Given the description of an element on the screen output the (x, y) to click on. 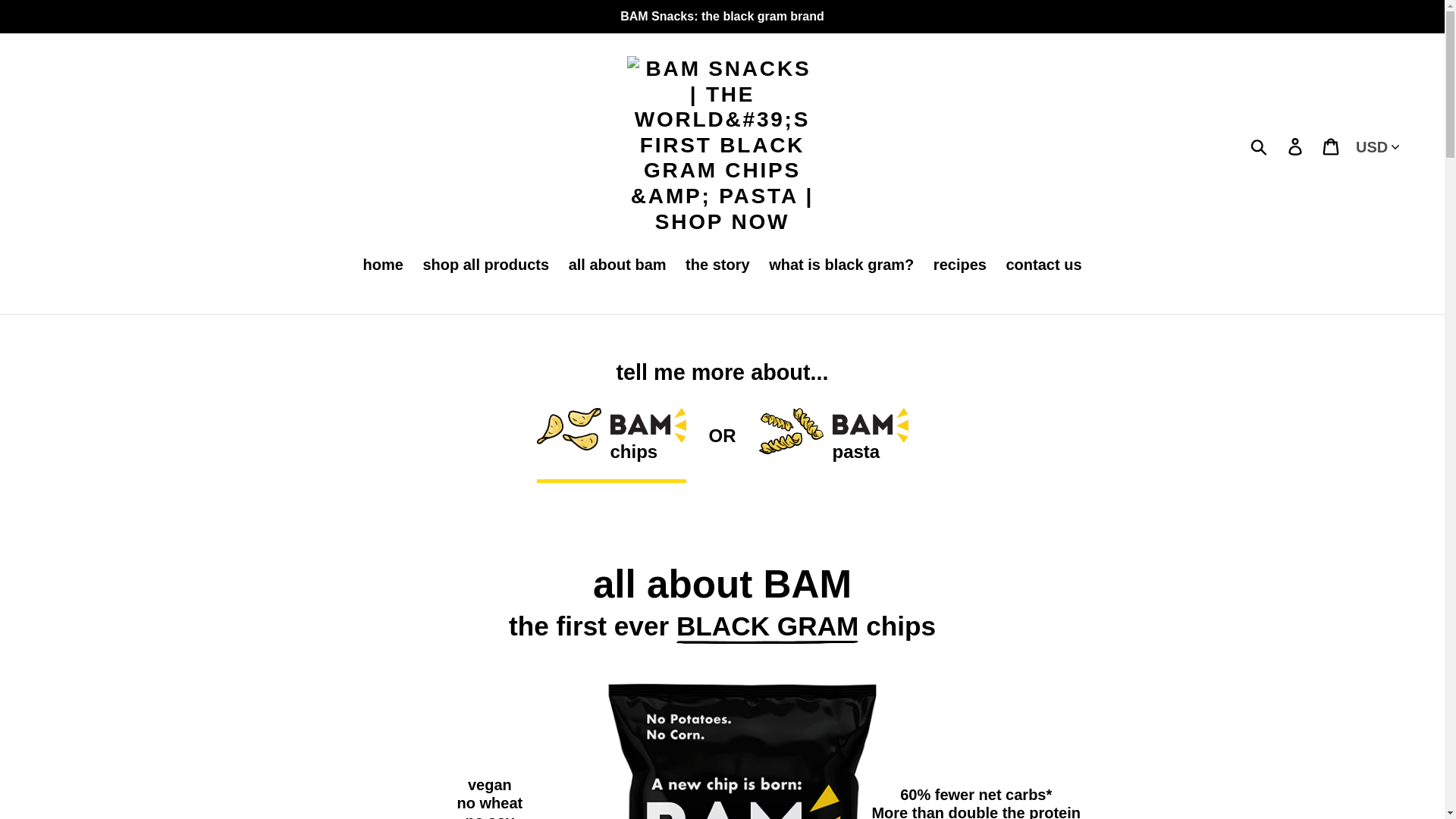
home (382, 265)
Log in (1296, 145)
what is black gram? (841, 265)
the story (717, 265)
contact us (1043, 265)
shop all products (485, 265)
Cart (1331, 145)
all about bam (617, 265)
recipes (960, 265)
Submit (1259, 144)
